Given the description of an element on the screen output the (x, y) to click on. 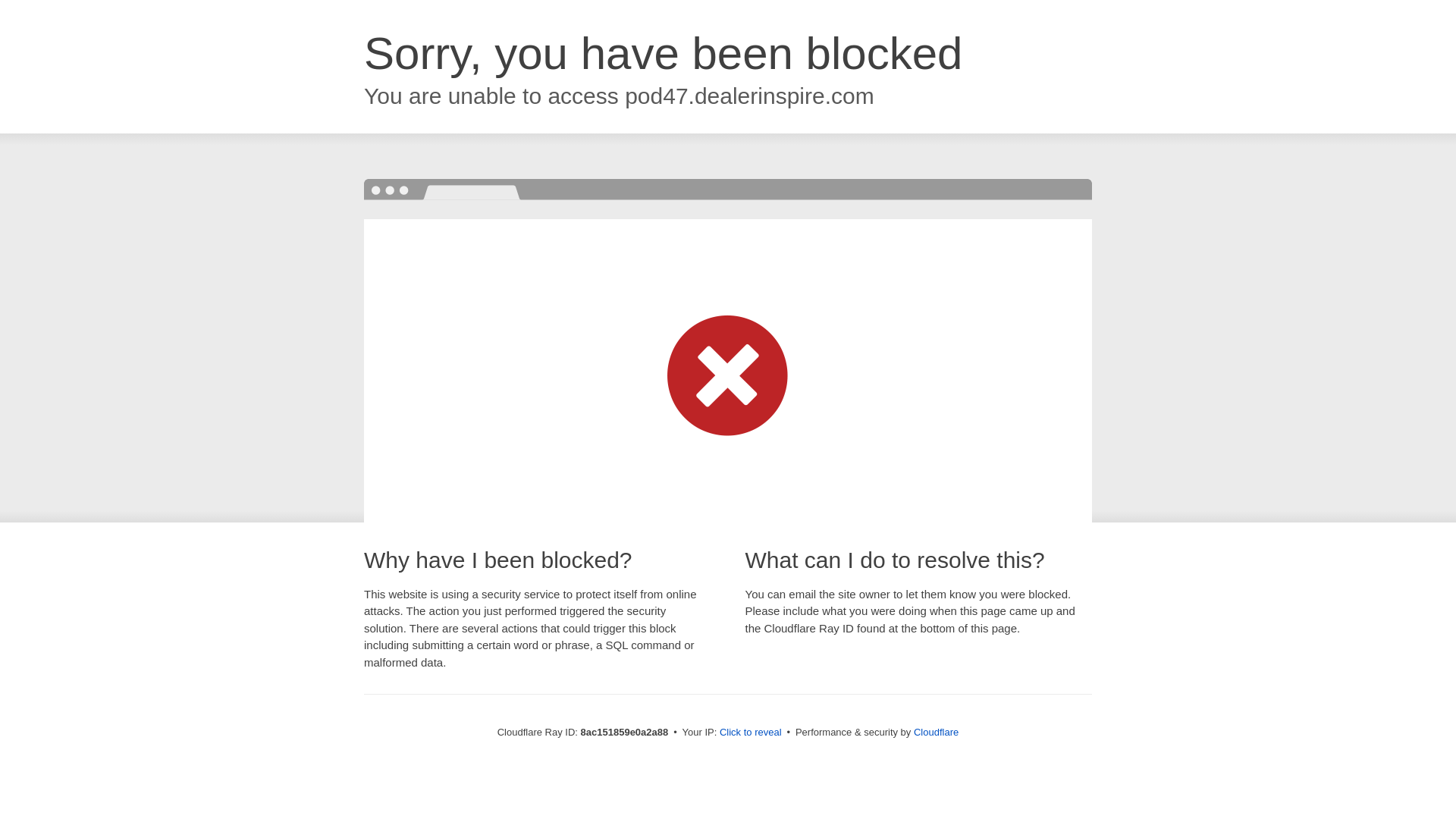
Click to reveal (750, 732)
Cloudflare (936, 731)
